Given the description of an element on the screen output the (x, y) to click on. 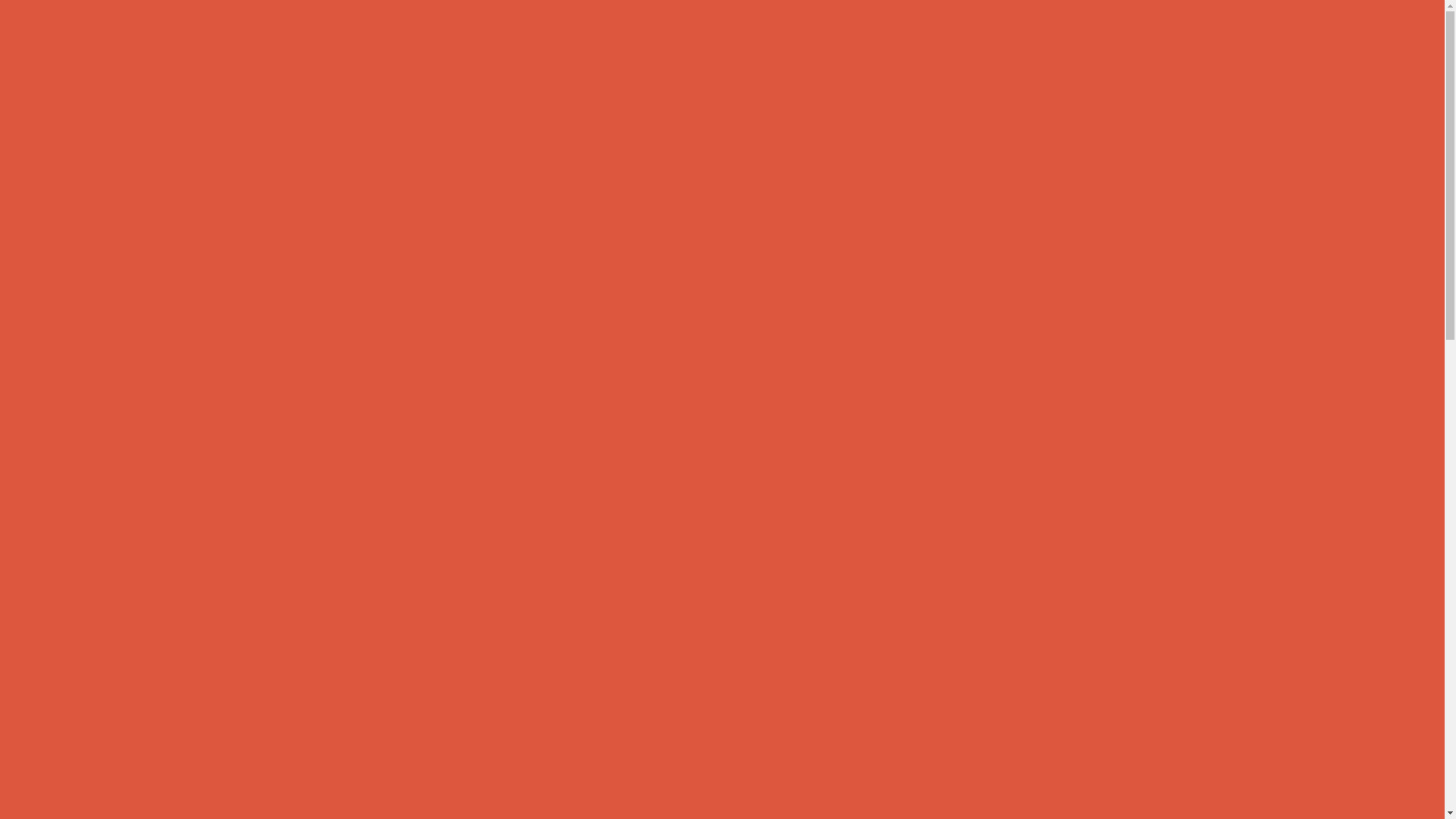
inge@artoneverything.be Element type: text (433, 490)
MENU Element type: text (1358, 42)
